Given the description of an element on the screen output the (x, y) to click on. 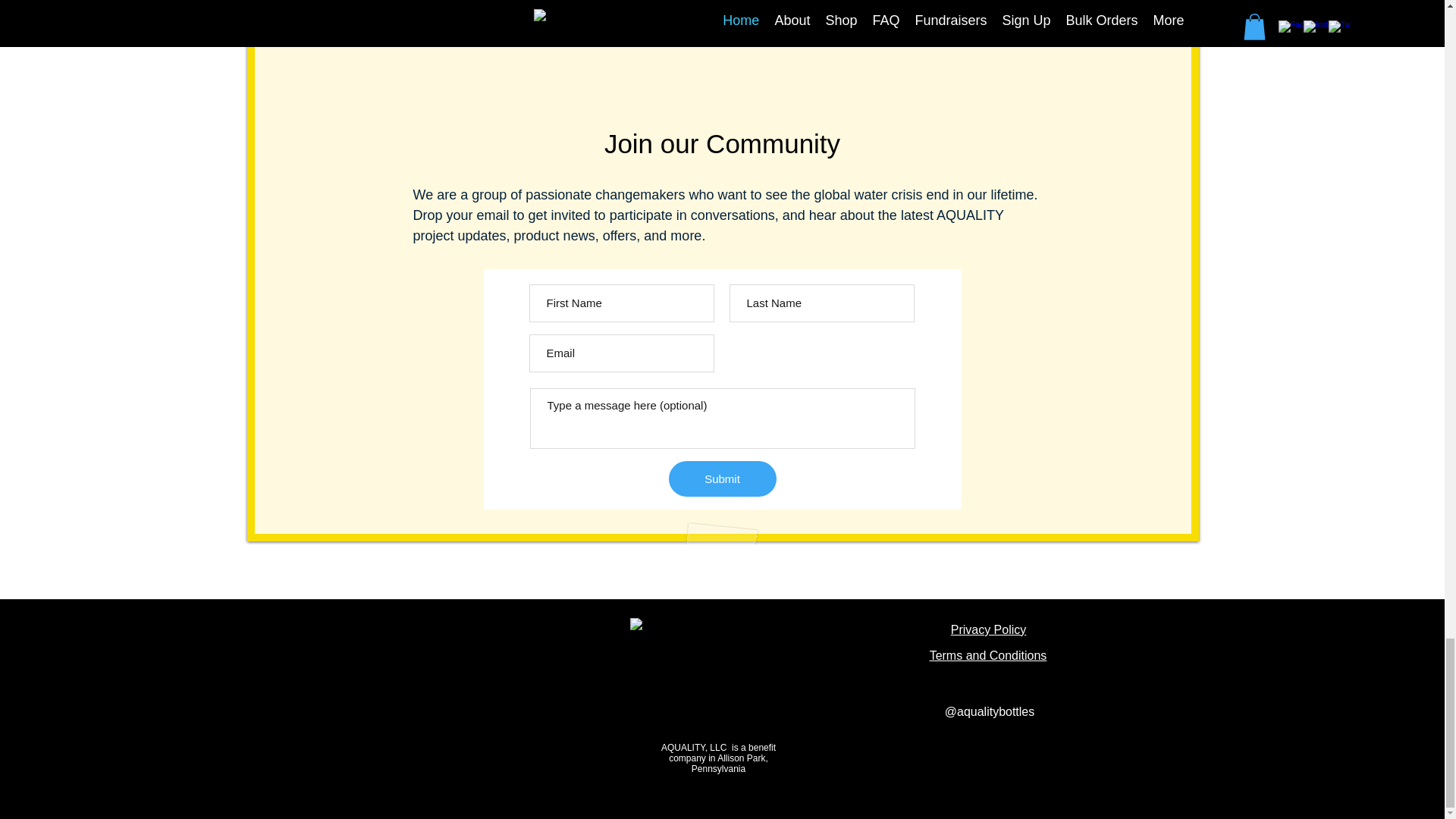
Privacy Policy (988, 629)
Terms and Conditions (988, 655)
Submit (722, 478)
